Given the description of an element on the screen output the (x, y) to click on. 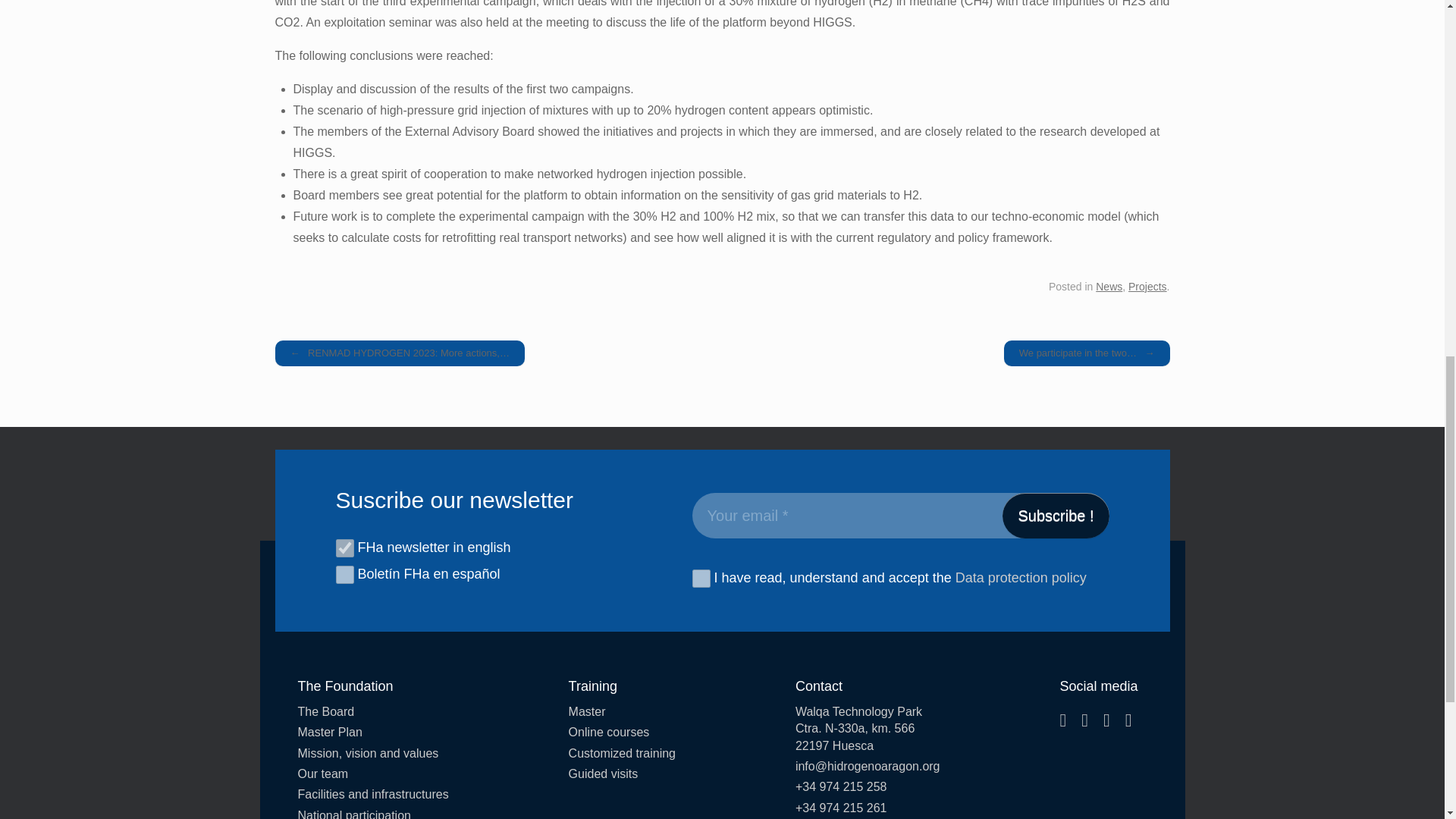
1 (700, 578)
Your email (899, 515)
The Board (372, 711)
Subscribe ! (1055, 515)
9 (343, 547)
Subscribe ! (1055, 515)
3 (343, 574)
Projects (1147, 286)
Data protection policy (1020, 578)
News (1109, 286)
